Given the description of an element on the screen output the (x, y) to click on. 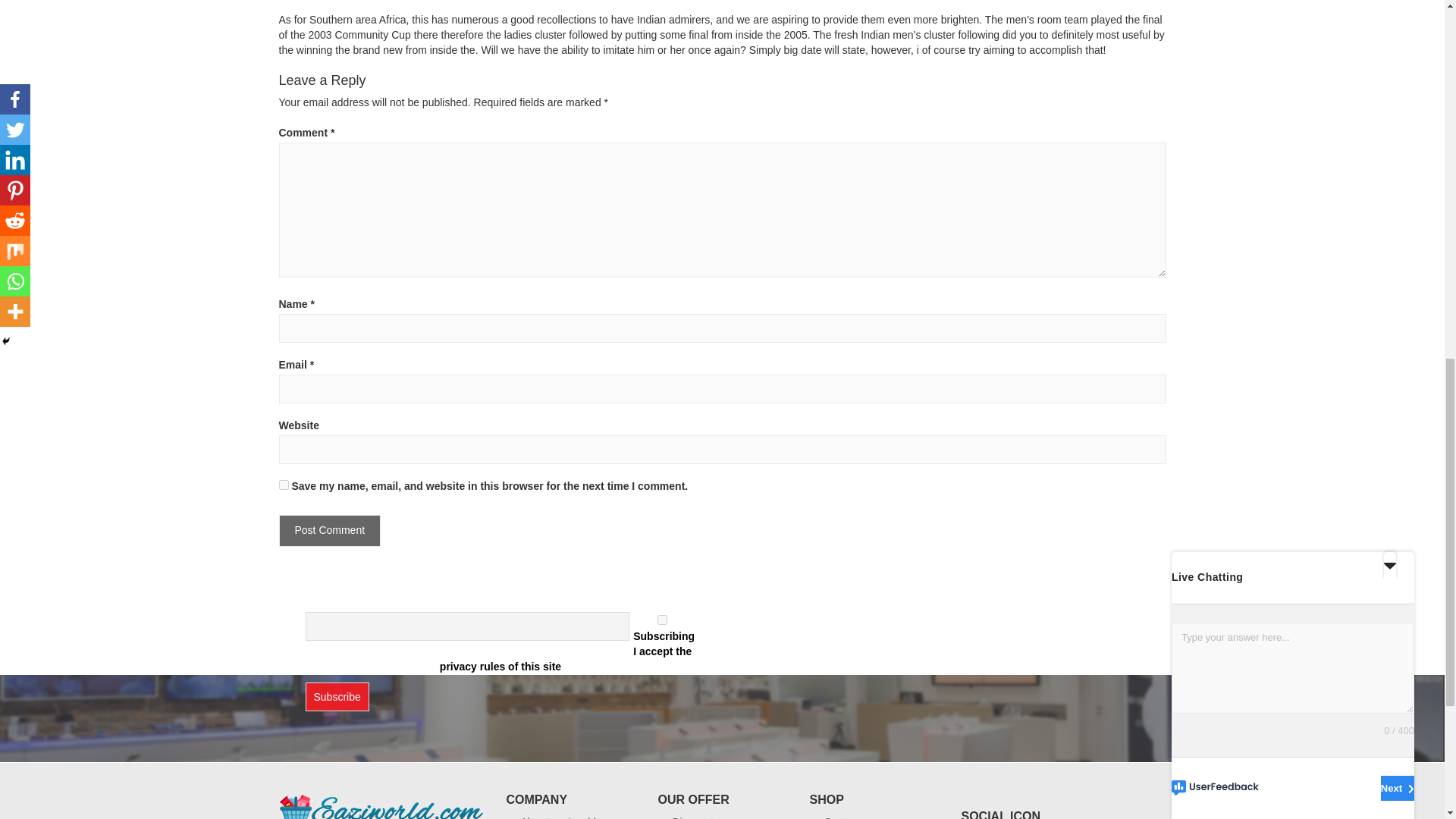
on (662, 619)
Post Comment (330, 531)
Subscribe (336, 696)
yes (283, 484)
